Given the description of an element on the screen output the (x, y) to click on. 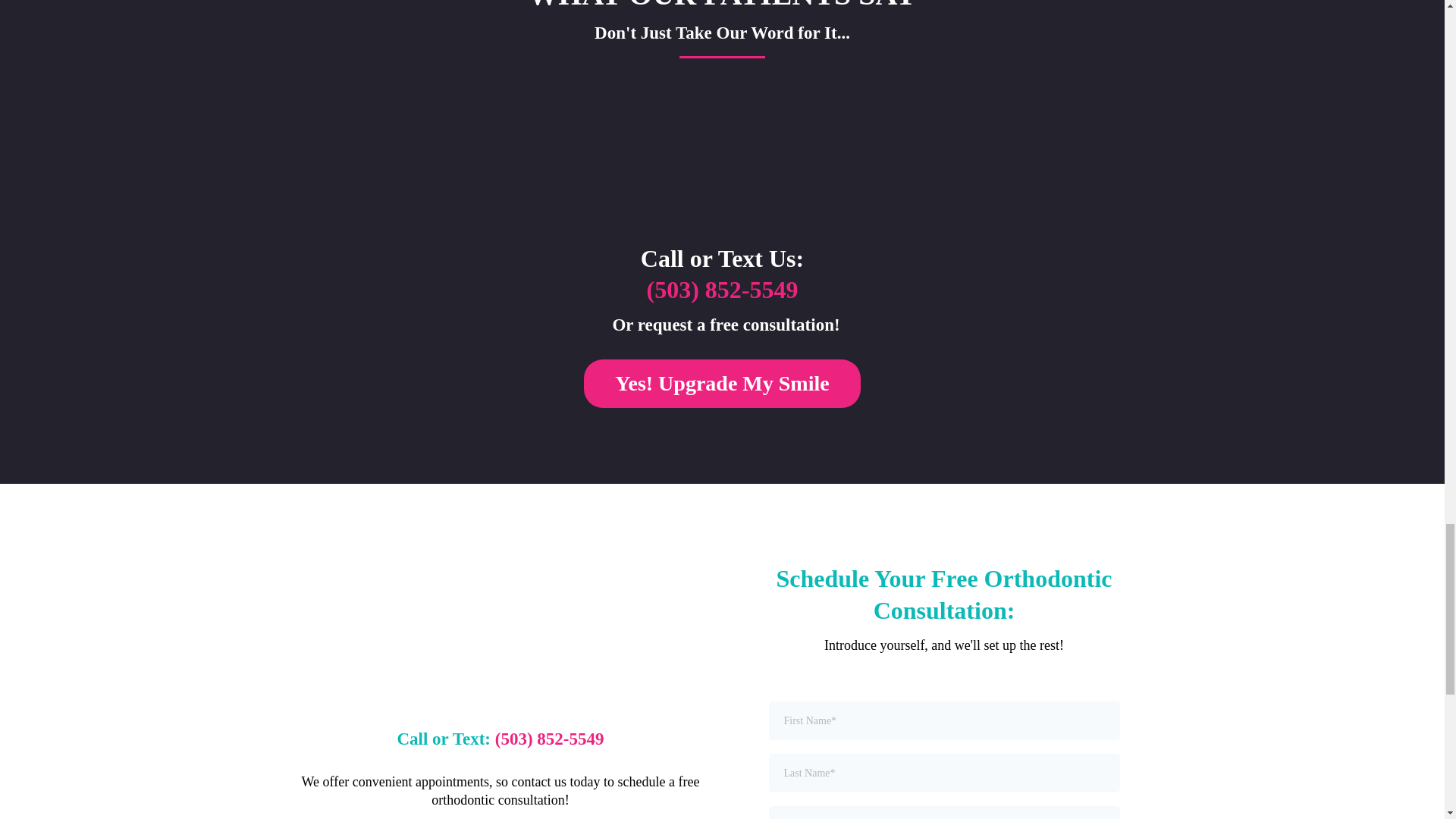
Yes! Upgrade My Smile (721, 383)
